Given the description of an element on the screen output the (x, y) to click on. 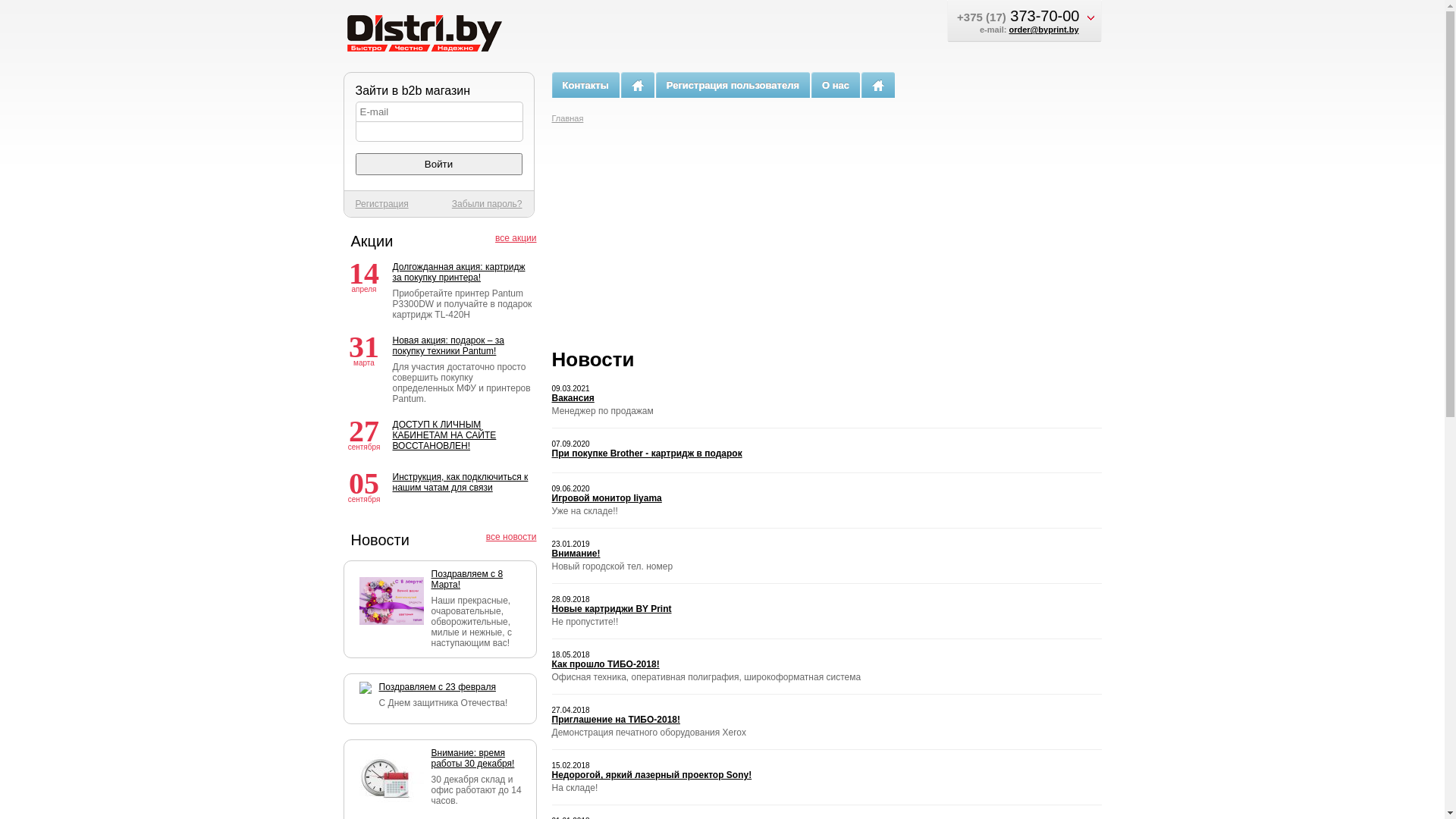
order@byprint.by Element type: text (1043, 29)
